Given the description of an element on the screen output the (x, y) to click on. 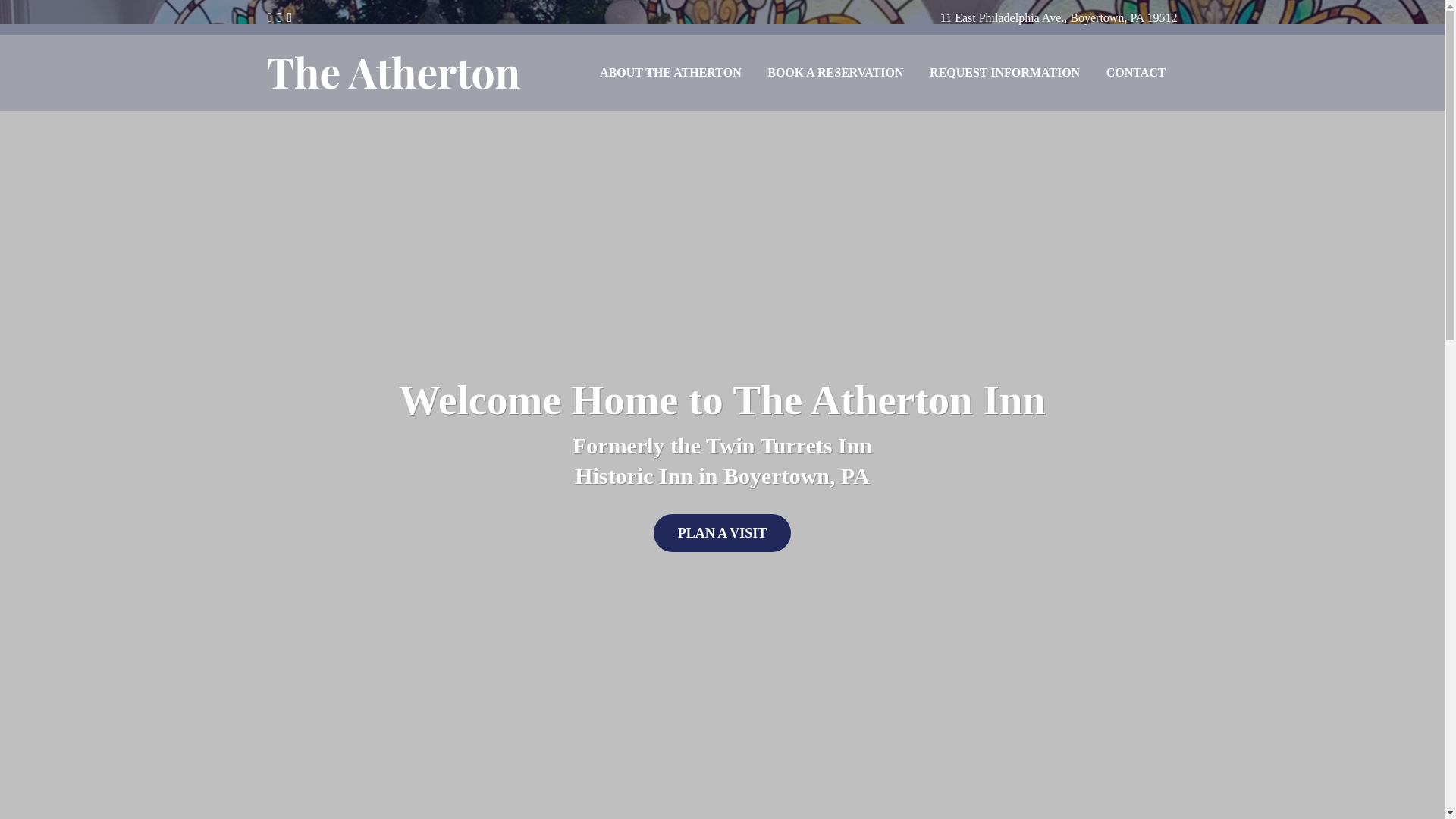
11 East Philadelphia Ave., Boyertown, PA 19512 (1058, 17)
REQUEST INFORMATION (1004, 72)
BOOK A RESERVATION (834, 72)
PLAN A VISIT (722, 533)
ABOUT THE ATHERTON (670, 72)
CONTACT (1135, 72)
